Given the description of an element on the screen output the (x, y) to click on. 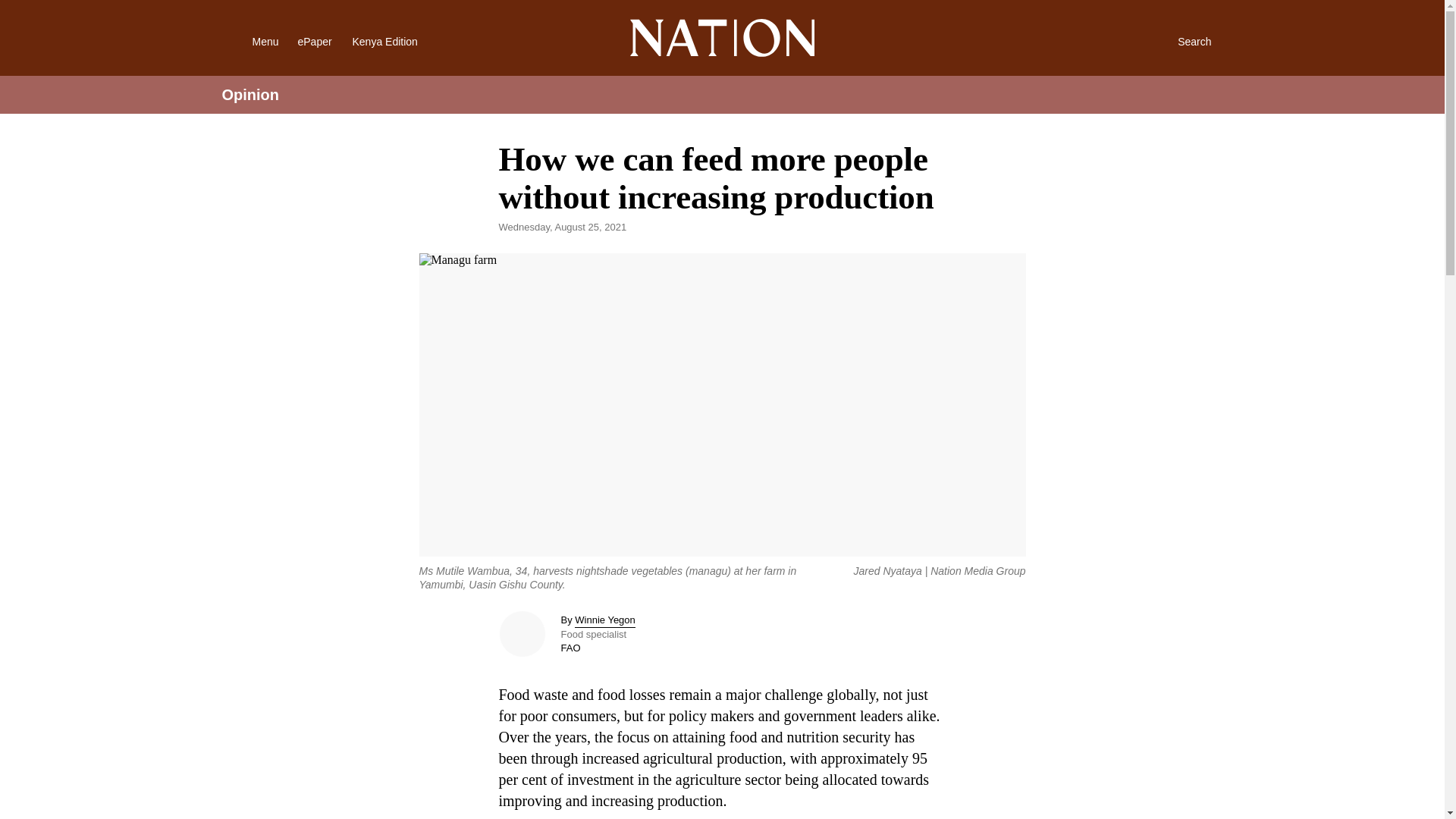
Kenya Edition (398, 41)
Menu (246, 41)
Opinion (250, 94)
Search (1178, 41)
ePaper (314, 41)
